Given the description of an element on the screen output the (x, y) to click on. 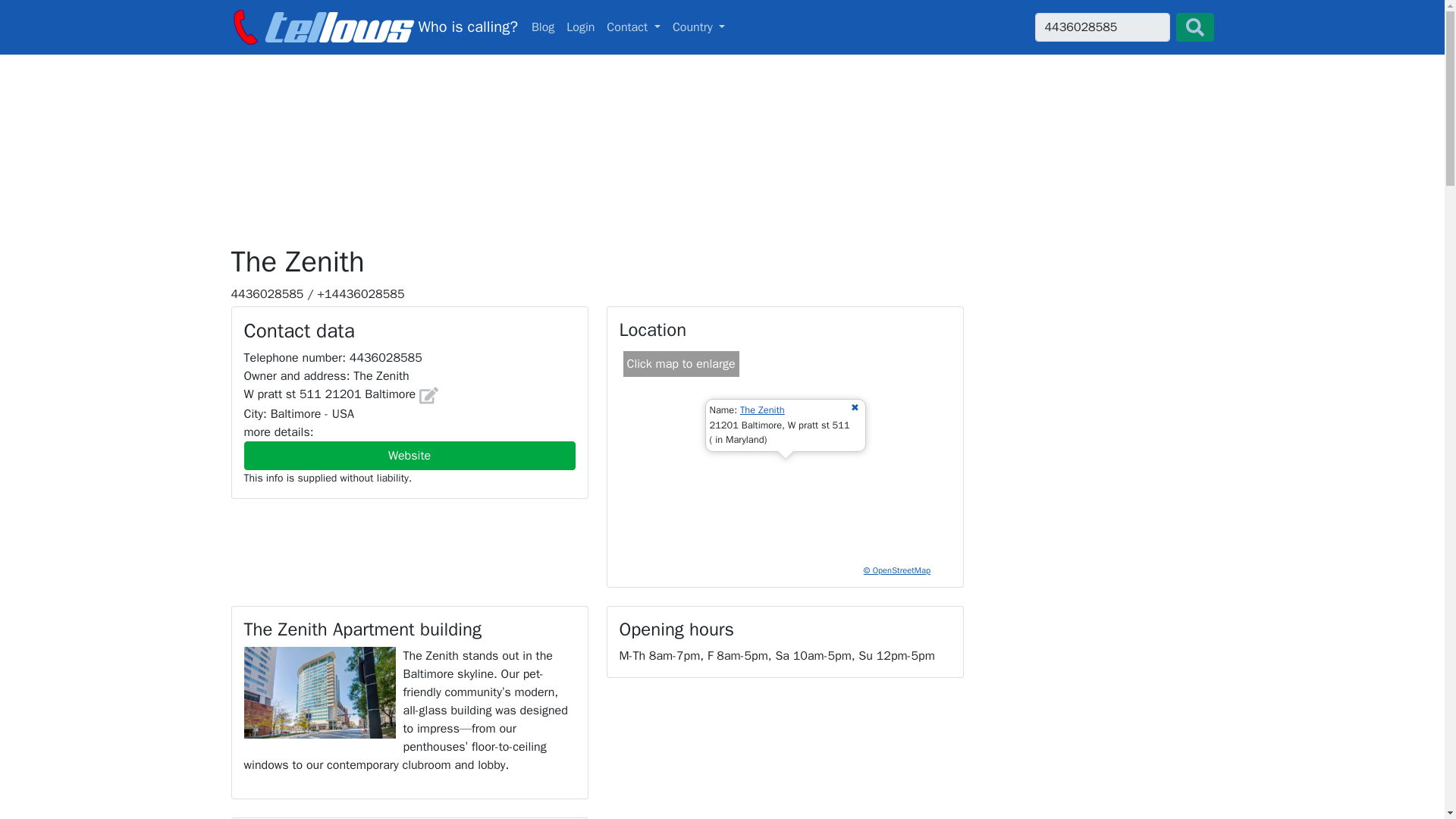
Who is calling? (373, 26)
The Zenith (761, 410)
4436028585 (1101, 27)
Blog (542, 27)
Country (699, 27)
Website (409, 455)
Login (579, 27)
tellows - the community for calls, phone spam and complaints (722, 26)
Blog (373, 26)
Contact (542, 27)
